Given the description of an element on the screen output the (x, y) to click on. 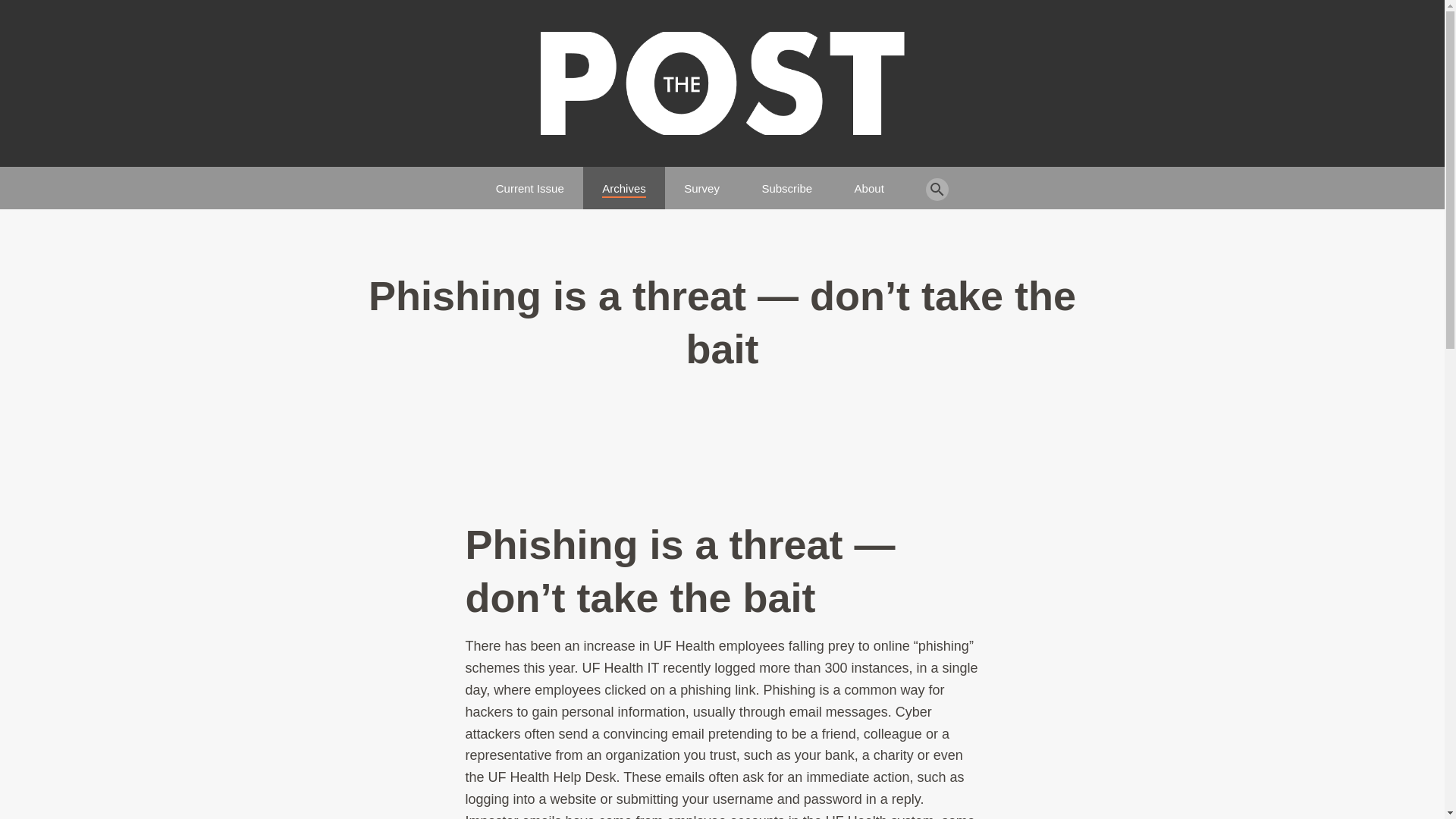
The POST - Home (722, 83)
Survey (701, 182)
Archives (624, 182)
About (868, 182)
Subscribe (786, 182)
Current Issue (530, 182)
